Given the description of an element on the screen output the (x, y) to click on. 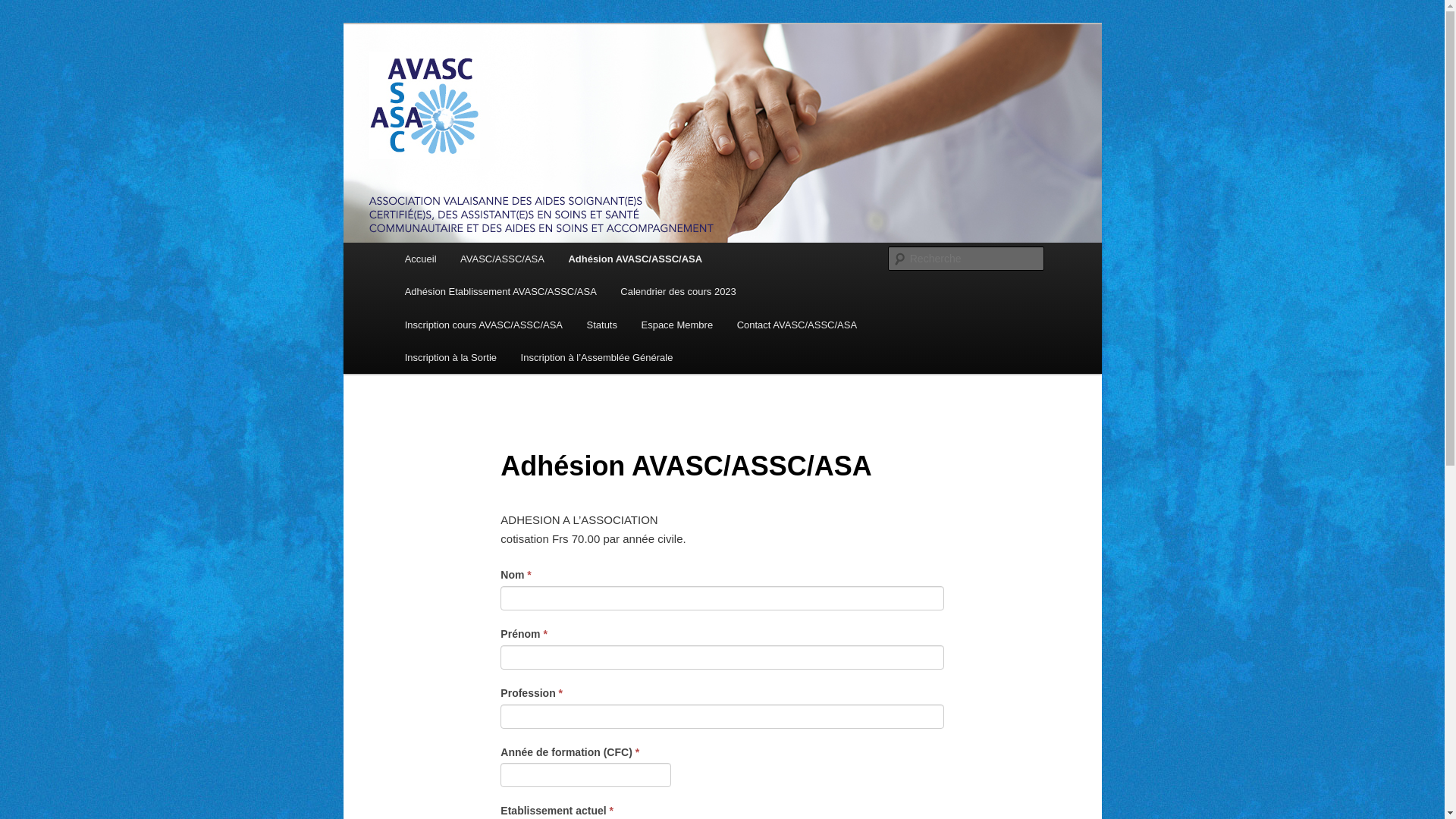
Inscription cours AVASC/ASSC/ASA Element type: text (483, 324)
Contact AVASC/ASSC/ASA Element type: text (796, 324)
AVASC/ASSC/ASA Element type: text (501, 258)
Statuts Element type: text (601, 324)
Espace Membre Element type: text (676, 324)
Calendrier des cours 2023 Element type: text (678, 291)
Recherche Element type: text (33, 8)
Accueil Element type: text (420, 258)
Aller au contenu principal Element type: text (22, 22)
AVASC Element type: text (438, 78)
